Given the description of an element on the screen output the (x, y) to click on. 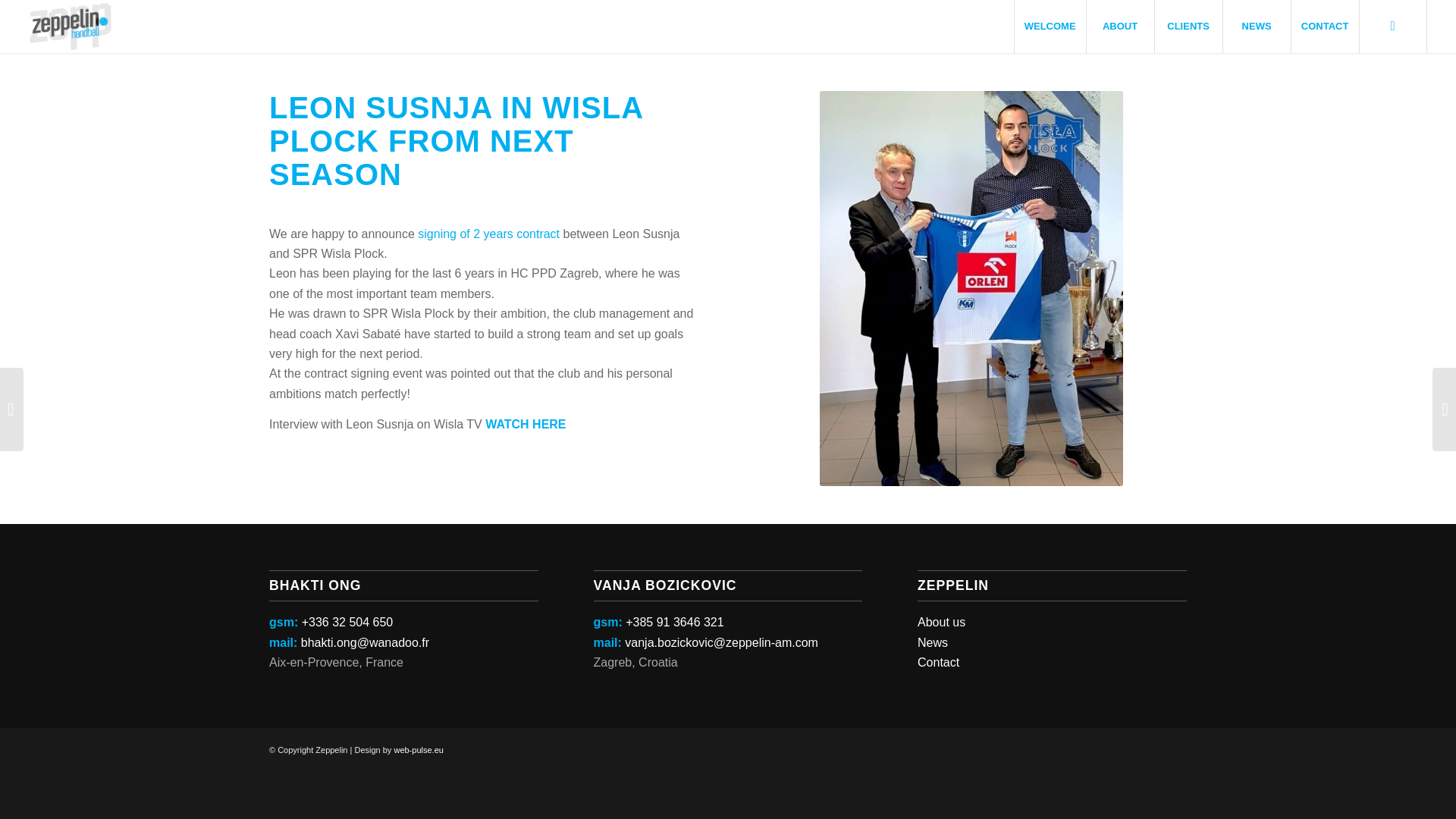
web-pulse.eu (417, 749)
WATCH HERE (525, 423)
News (932, 642)
Contact (938, 662)
CLIENTS (1188, 26)
ABOUT (1120, 26)
About us (941, 621)
NEWS (1256, 26)
CONTACT (1324, 26)
signing of 2 years contract (488, 233)
WELCOME (1049, 26)
